Given the description of an element on the screen output the (x, y) to click on. 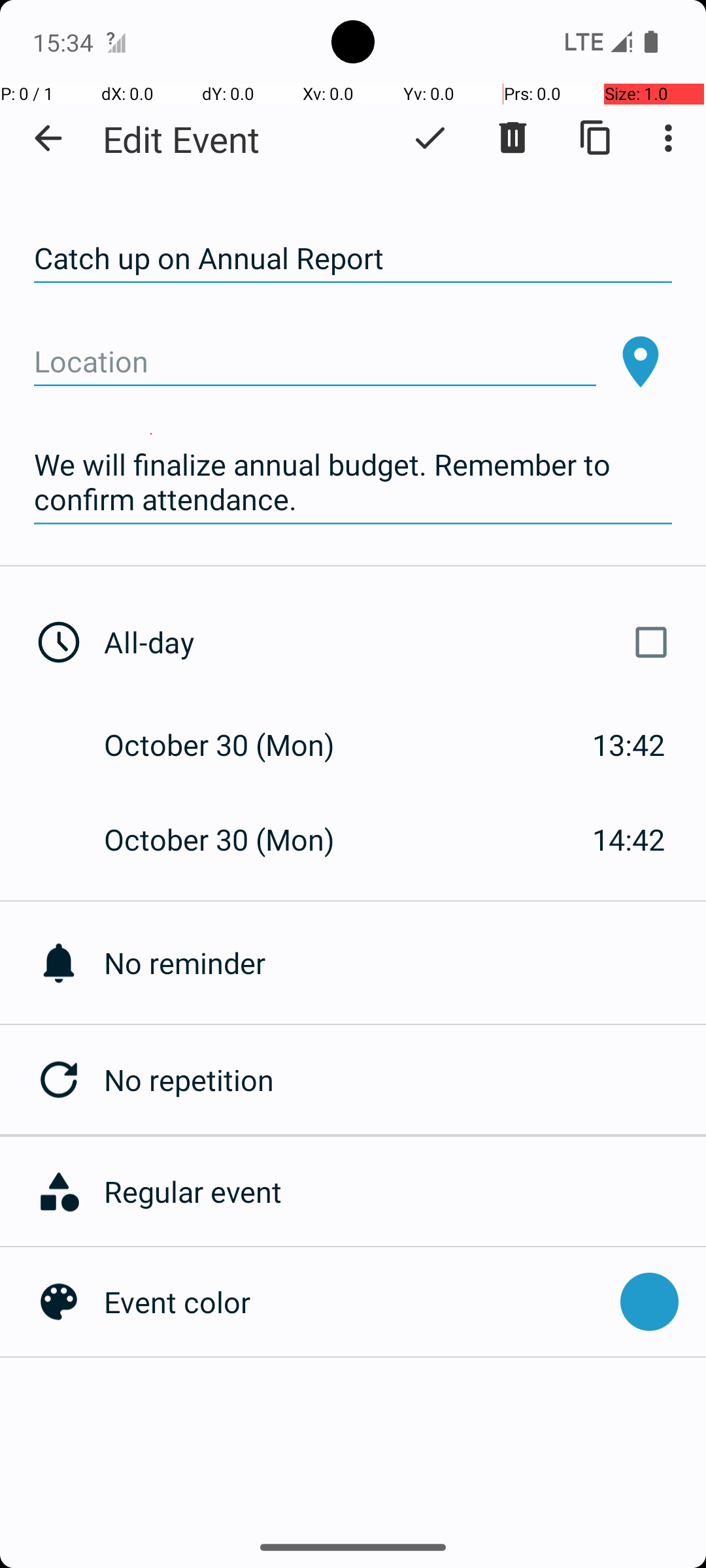
We will finalize annual budget. Remember to confirm attendance. Element type: android.widget.EditText (352, 482)
October 30 (Mon) Element type: android.widget.TextView (232, 744)
13:42 Element type: android.widget.TextView (628, 744)
14:42 Element type: android.widget.TextView (628, 838)
